Given the description of an element on the screen output the (x, y) to click on. 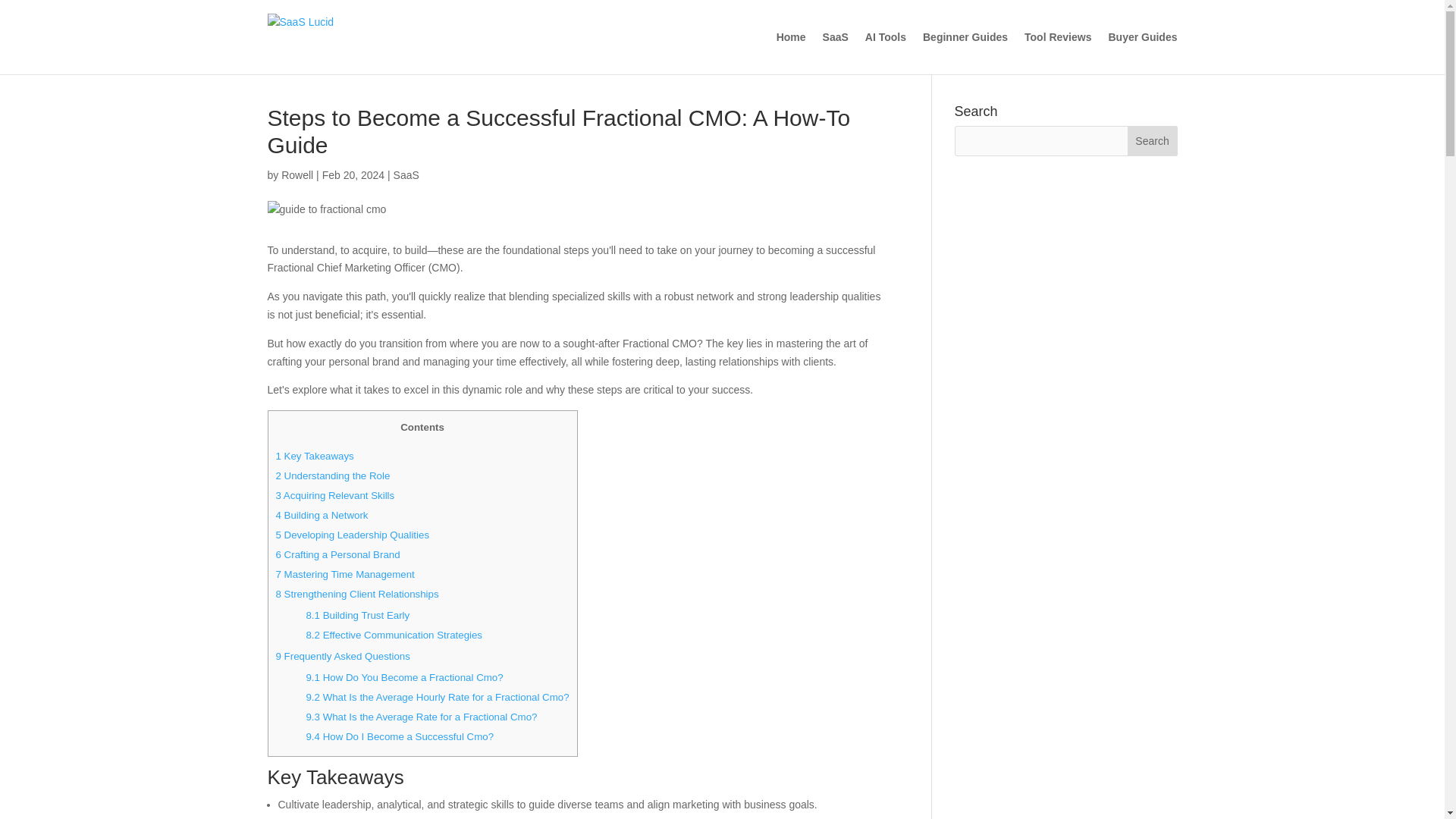
5 Developing Leadership Qualities (352, 534)
8.1 Building Trust Early (357, 614)
9.3 What Is the Average Rate for a Fractional Cmo? (421, 716)
8 Strengthening Client Relationships (357, 593)
8.2 Effective Communication Strategies (393, 634)
Buyer Guides (1142, 52)
7 Mastering Time Management (345, 573)
SaaS (406, 174)
Beginner Guides (965, 52)
9.2 What Is the Average Hourly Rate for a Fractional Cmo? (437, 696)
